Given the description of an element on the screen output the (x, y) to click on. 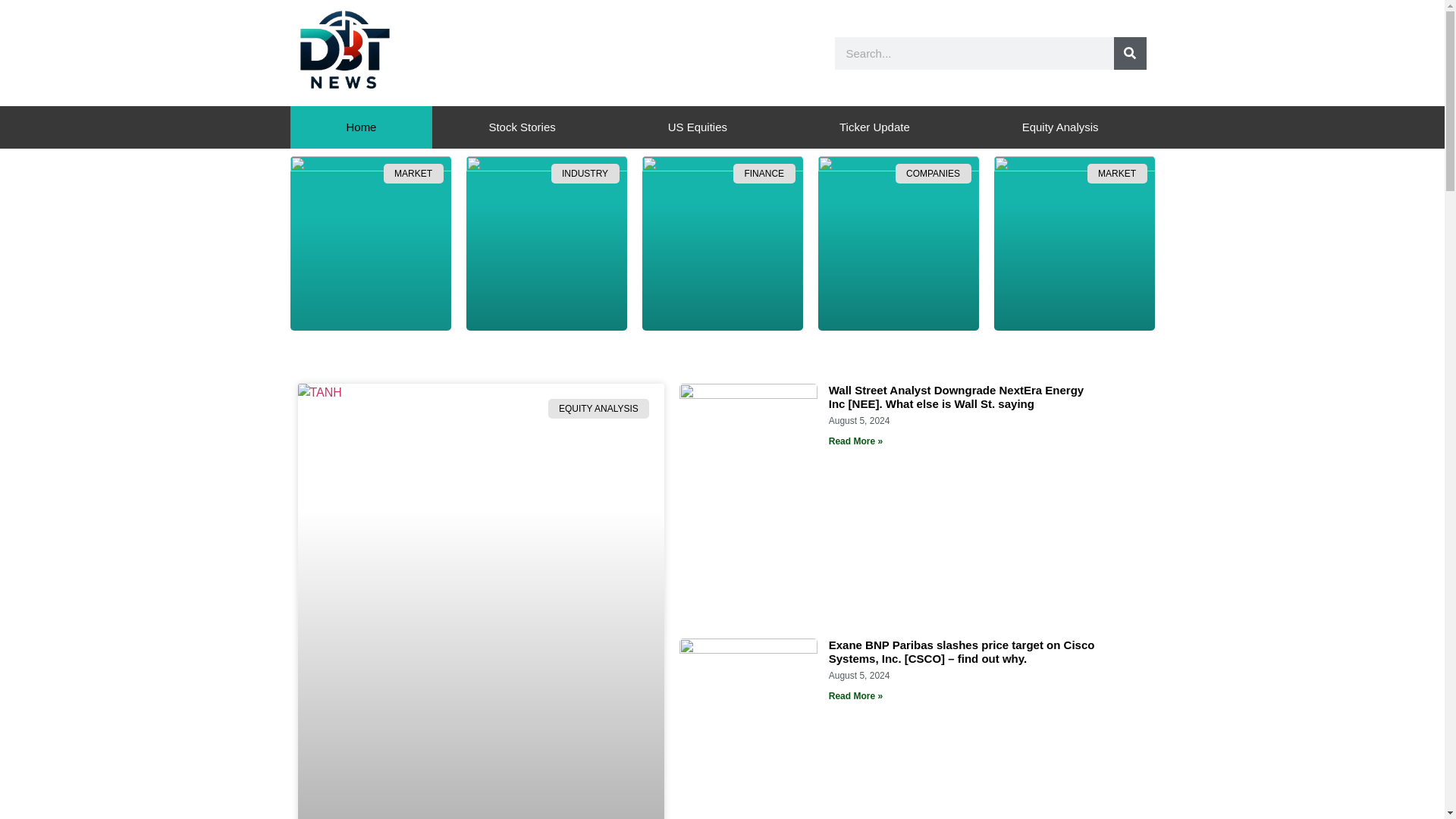
US Equities (697, 127)
Stock Stories (521, 127)
Equity Analysis (1060, 127)
Ticker Update (874, 127)
Home (360, 127)
